Given the description of an element on the screen output the (x, y) to click on. 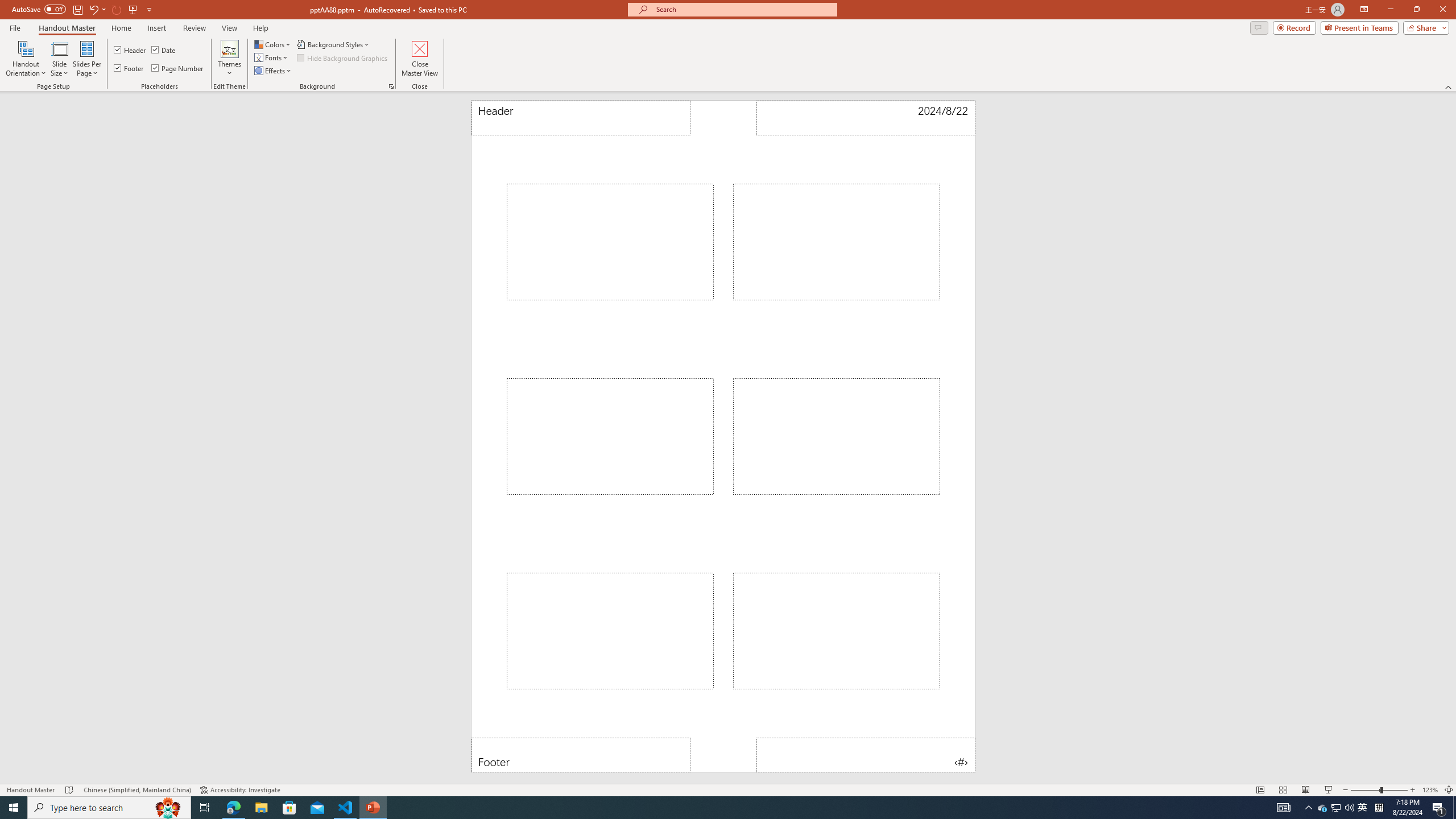
Footer (580, 754)
Close Master View (419, 58)
Fonts (271, 56)
Header (580, 117)
Footer (129, 67)
Format Background... (391, 85)
